Given the description of an element on the screen output the (x, y) to click on. 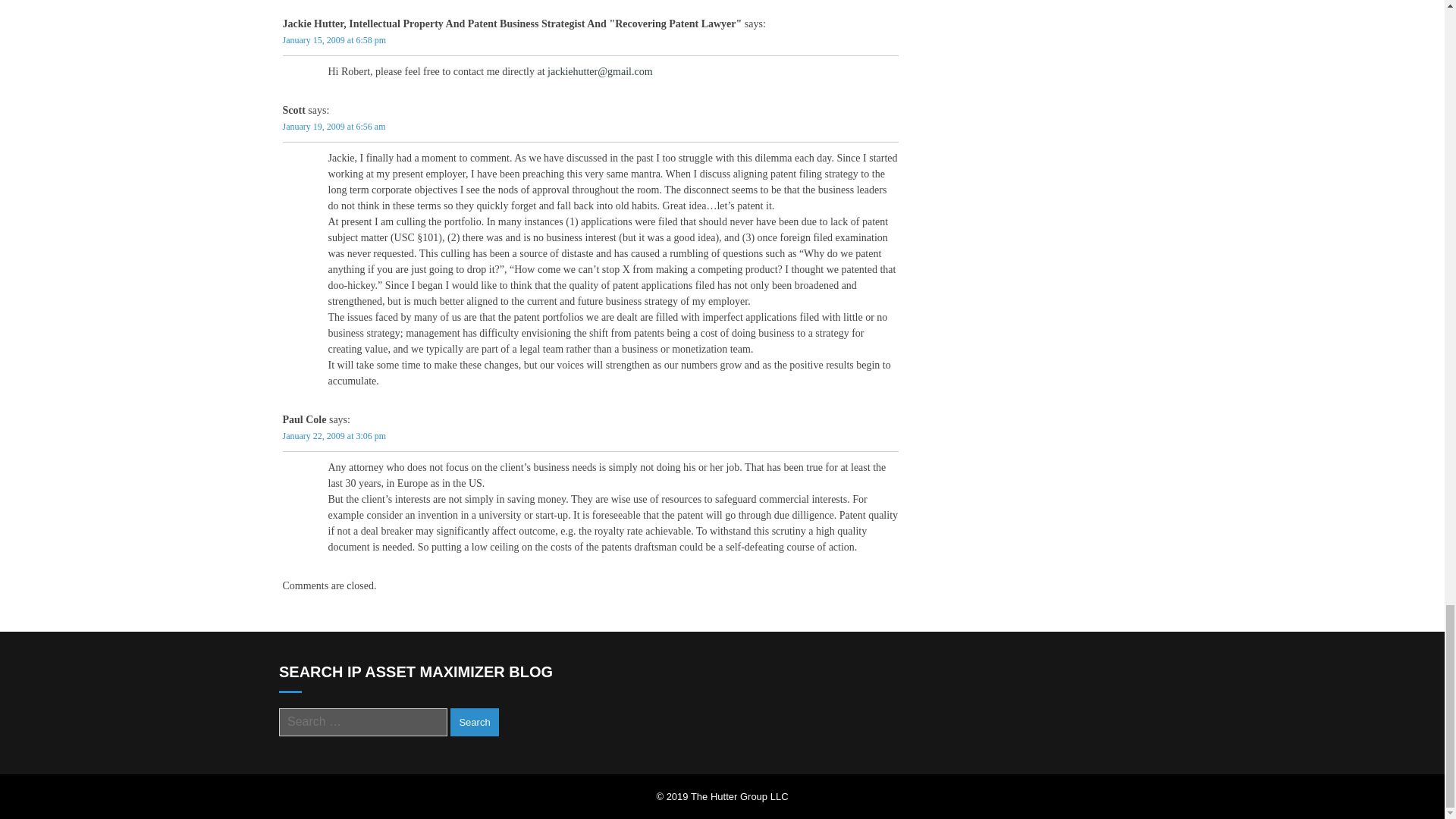
January 15, 2009 at 6:58 pm (333, 39)
January 22, 2009 at 3:06 pm (333, 436)
Search (473, 722)
January 19, 2009 at 6:56 am (333, 126)
Search (473, 722)
Search (473, 722)
